Given the description of an element on the screen output the (x, y) to click on. 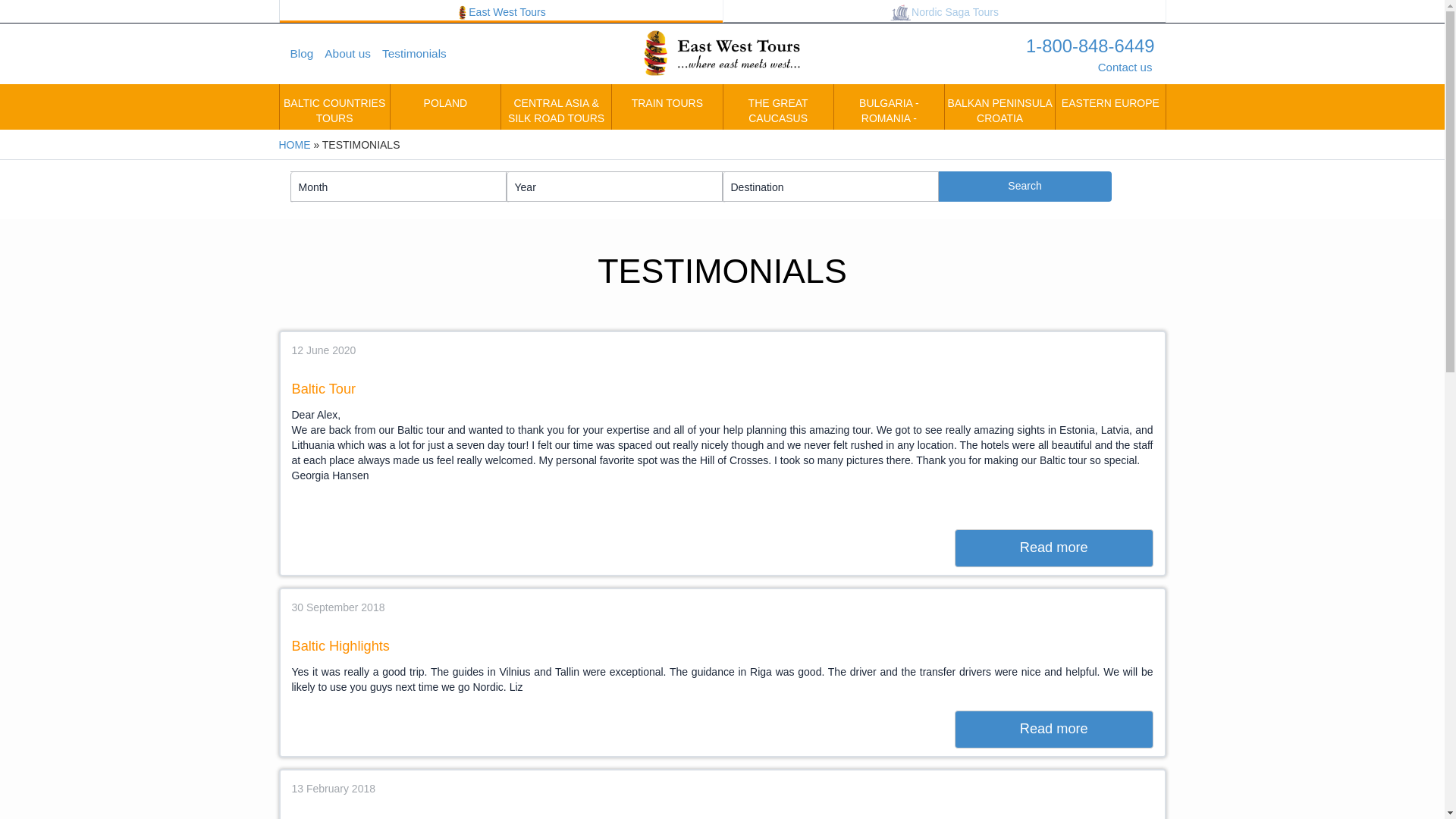
Contact us (1125, 66)
East West Tours (722, 53)
East West Tours (500, 11)
BALTIC COUNTRIES TOURS (333, 106)
TRAIN TOURS (666, 106)
1-800-848-6449 (1078, 46)
Nordic Saga Tours (944, 11)
Testimonials (419, 53)
HOME (295, 144)
Blog (306, 53)
